Given the description of an element on the screen output the (x, y) to click on. 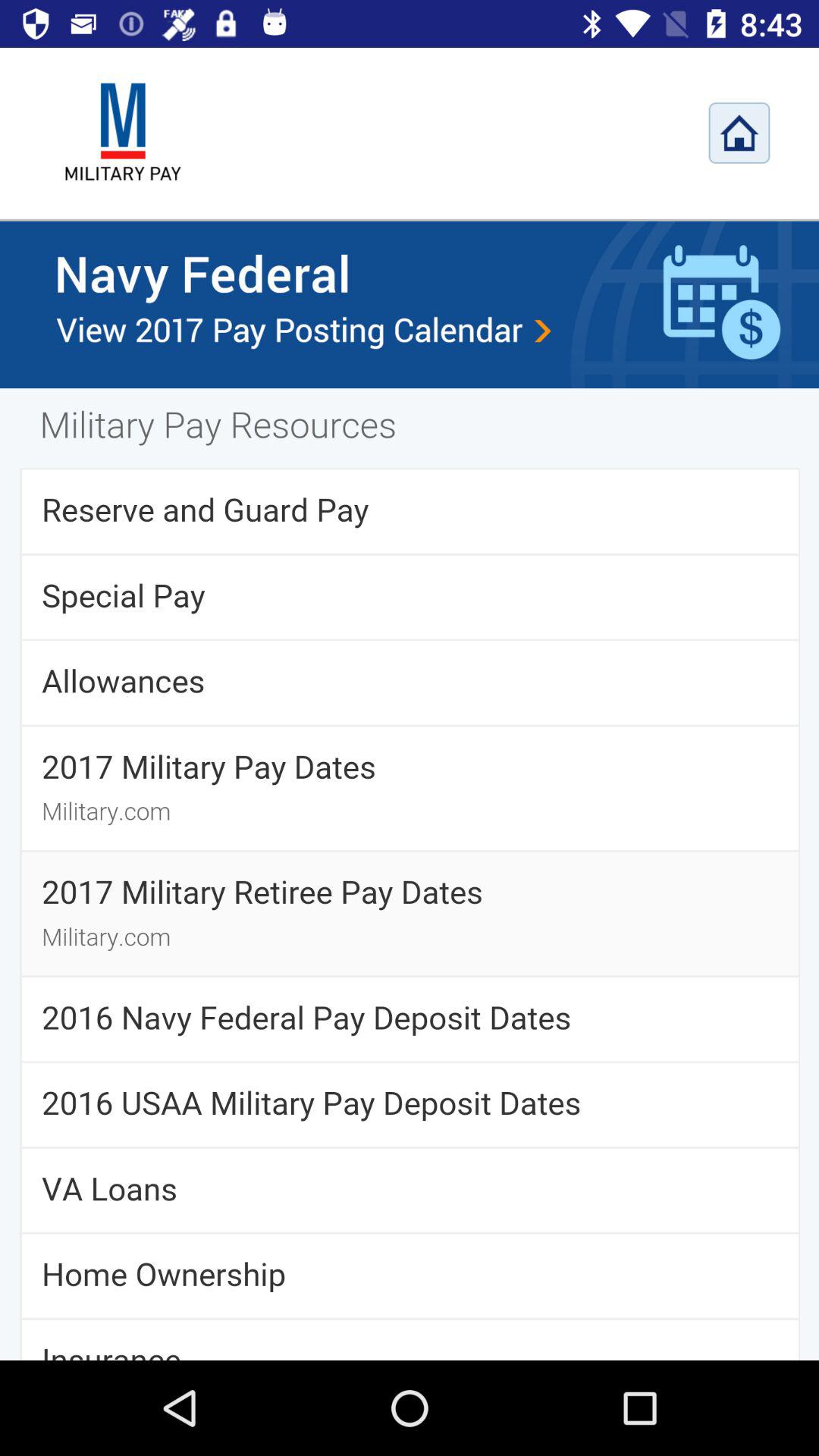
go to home page (739, 132)
